Given the description of an element on the screen output the (x, y) to click on. 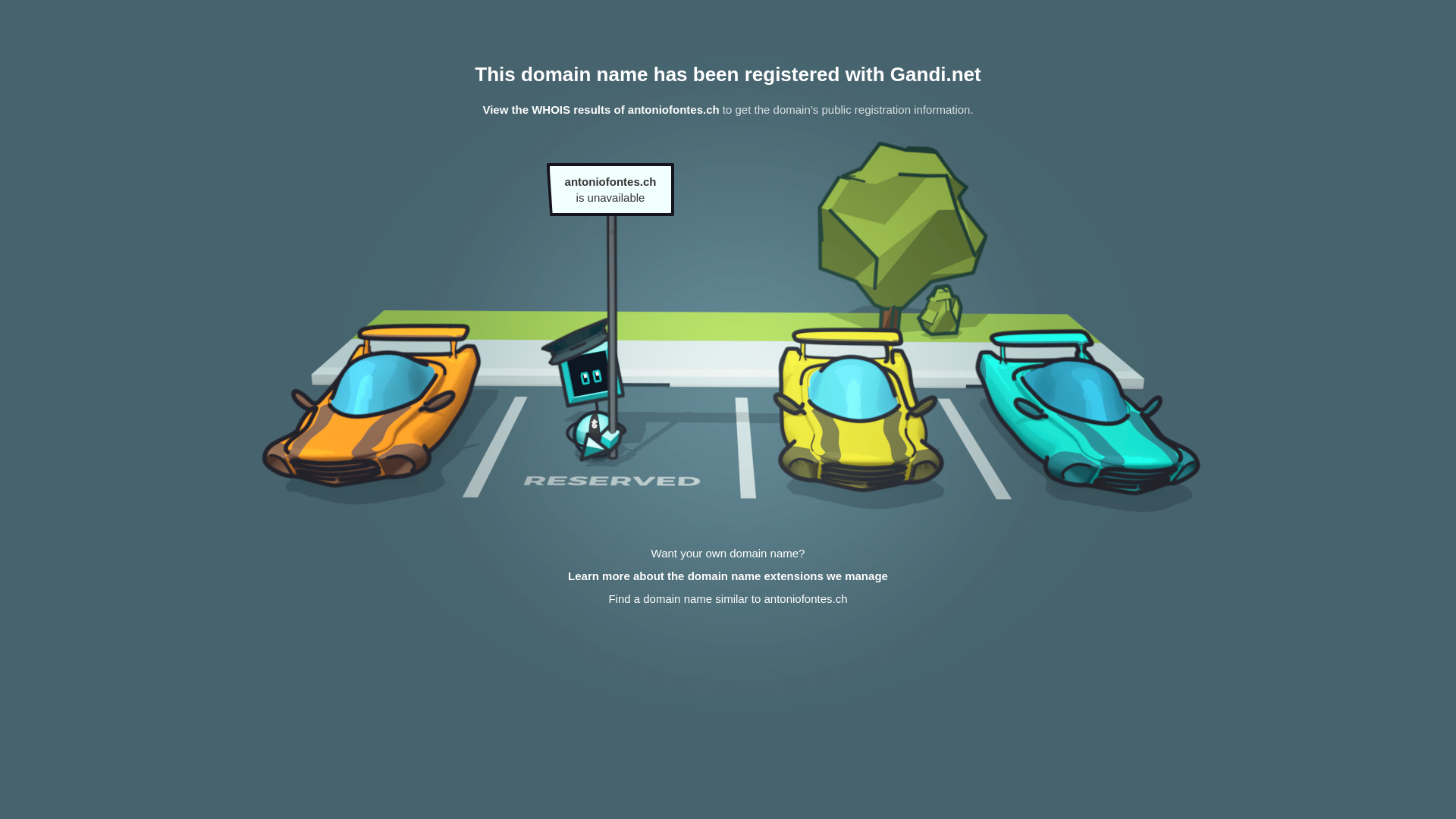
Find a domain name similar to antoniofontes.ch Element type: text (727, 598)
Learn more about the domain name extensions we manage Element type: text (727, 575)
View the WHOIS results of antoniofontes.ch Element type: text (600, 109)
